Given the description of an element on the screen output the (x, y) to click on. 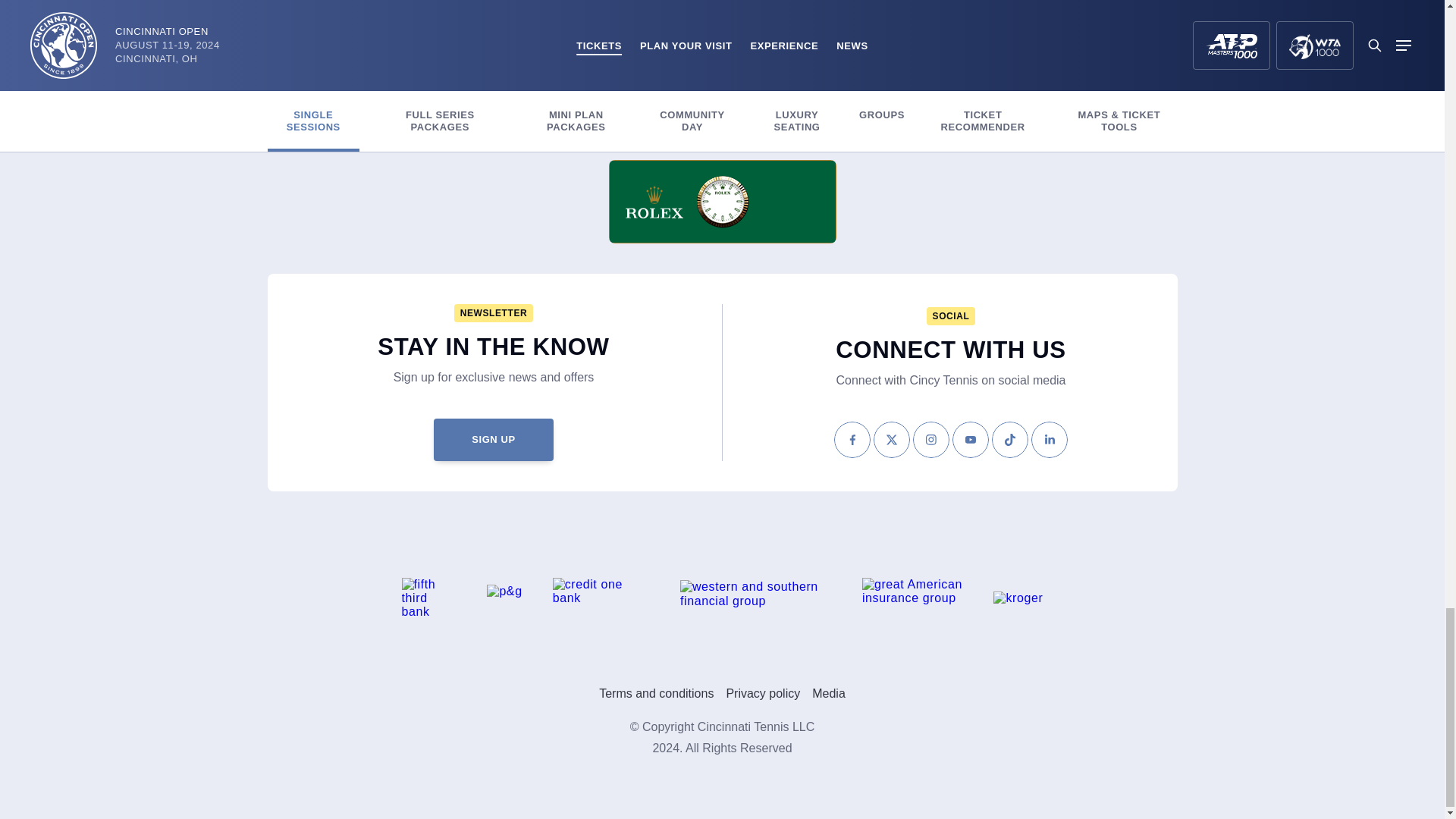
Rolex Cincinnati (721, 201)
